Given the description of an element on the screen output the (x, y) to click on. 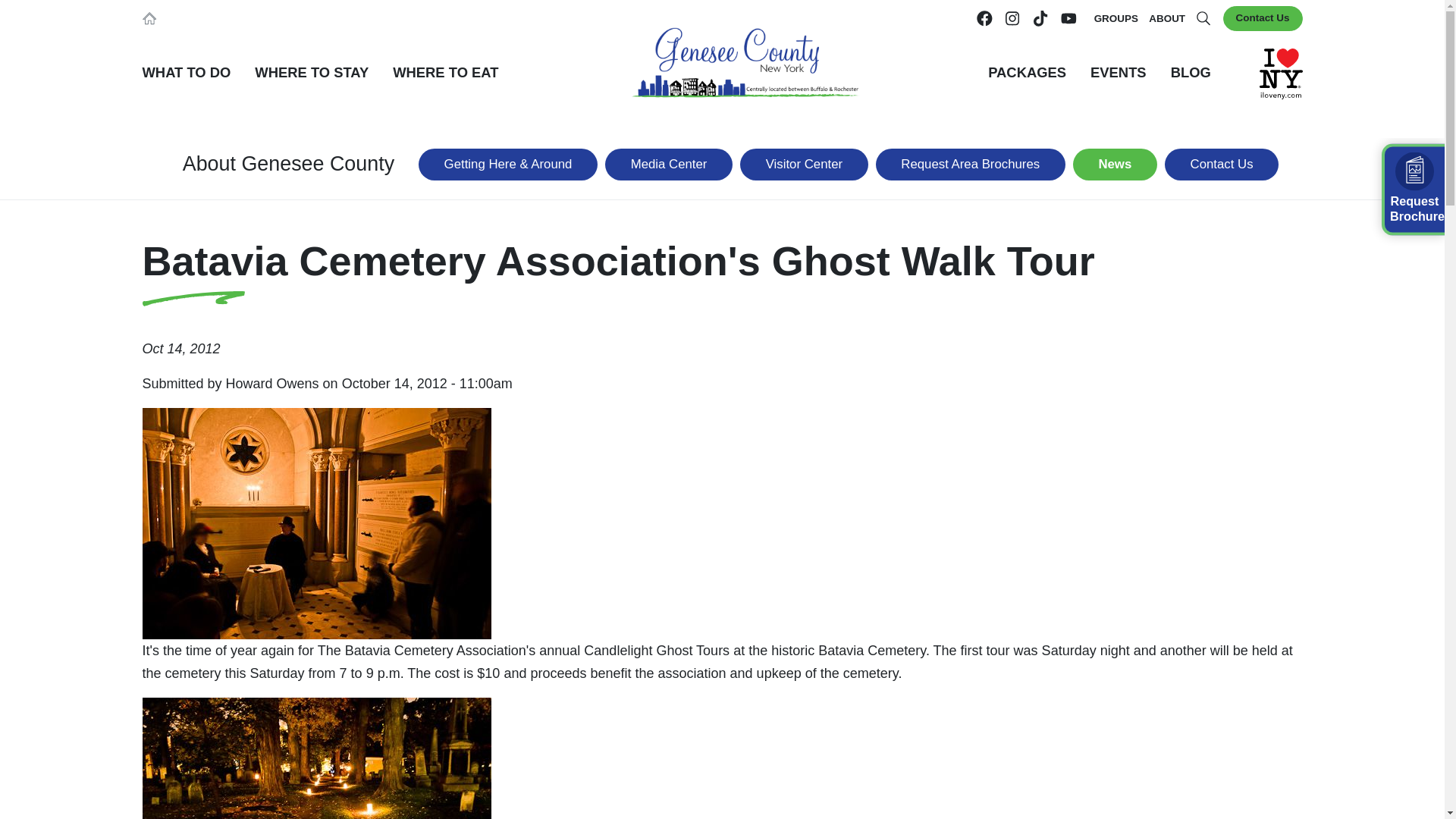
WHERE TO EAT (445, 73)
Contact Us (1263, 18)
GROUPS (1116, 18)
WHERE TO STAY (311, 73)
WHAT TO DO (186, 73)
ABOUT (1166, 18)
